Given the description of an element on the screen output the (x, y) to click on. 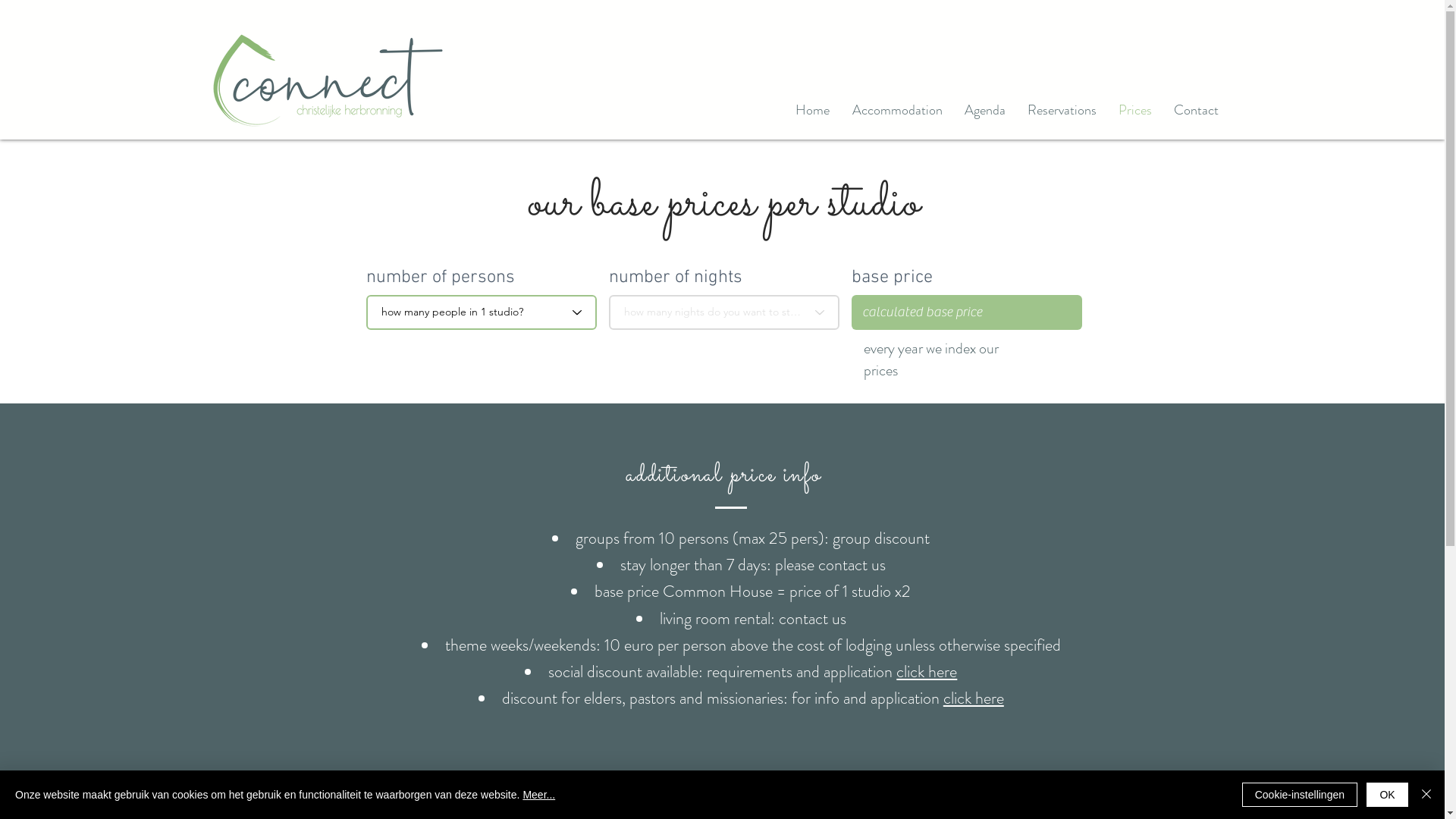
Prices Element type: text (1135, 109)
Meer... Element type: text (538, 794)
OK Element type: text (1387, 794)
Contact Element type: text (1196, 109)
Cookie-instellingen Element type: text (1299, 794)
click here Element type: text (973, 697)
Accommodation Element type: text (896, 109)
Home Element type: text (812, 109)
Reservations Element type: text (1061, 109)
click here Element type: text (926, 671)
